Given the description of an element on the screen output the (x, y) to click on. 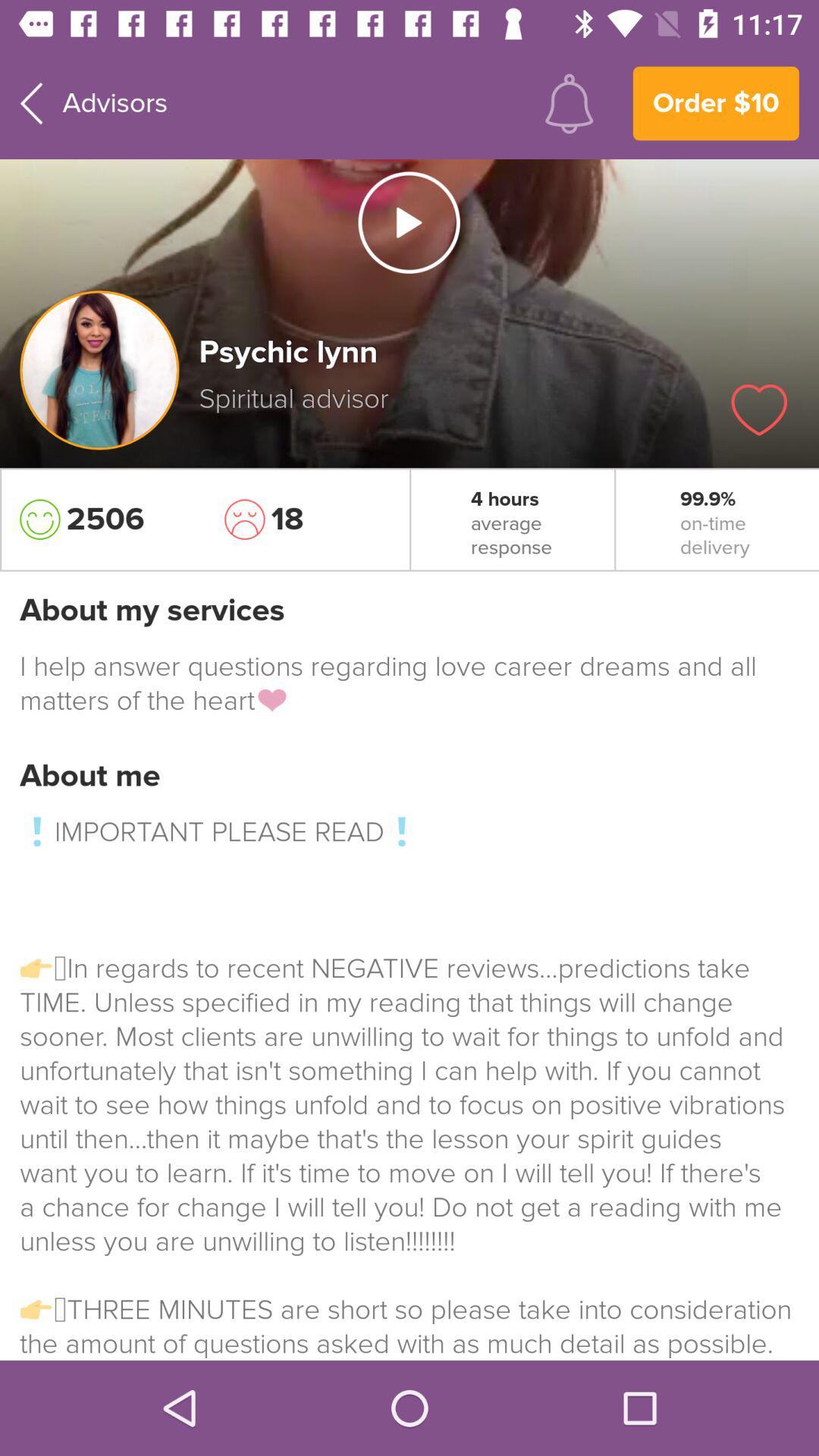
choose notifications (569, 103)
